Given the description of an element on the screen output the (x, y) to click on. 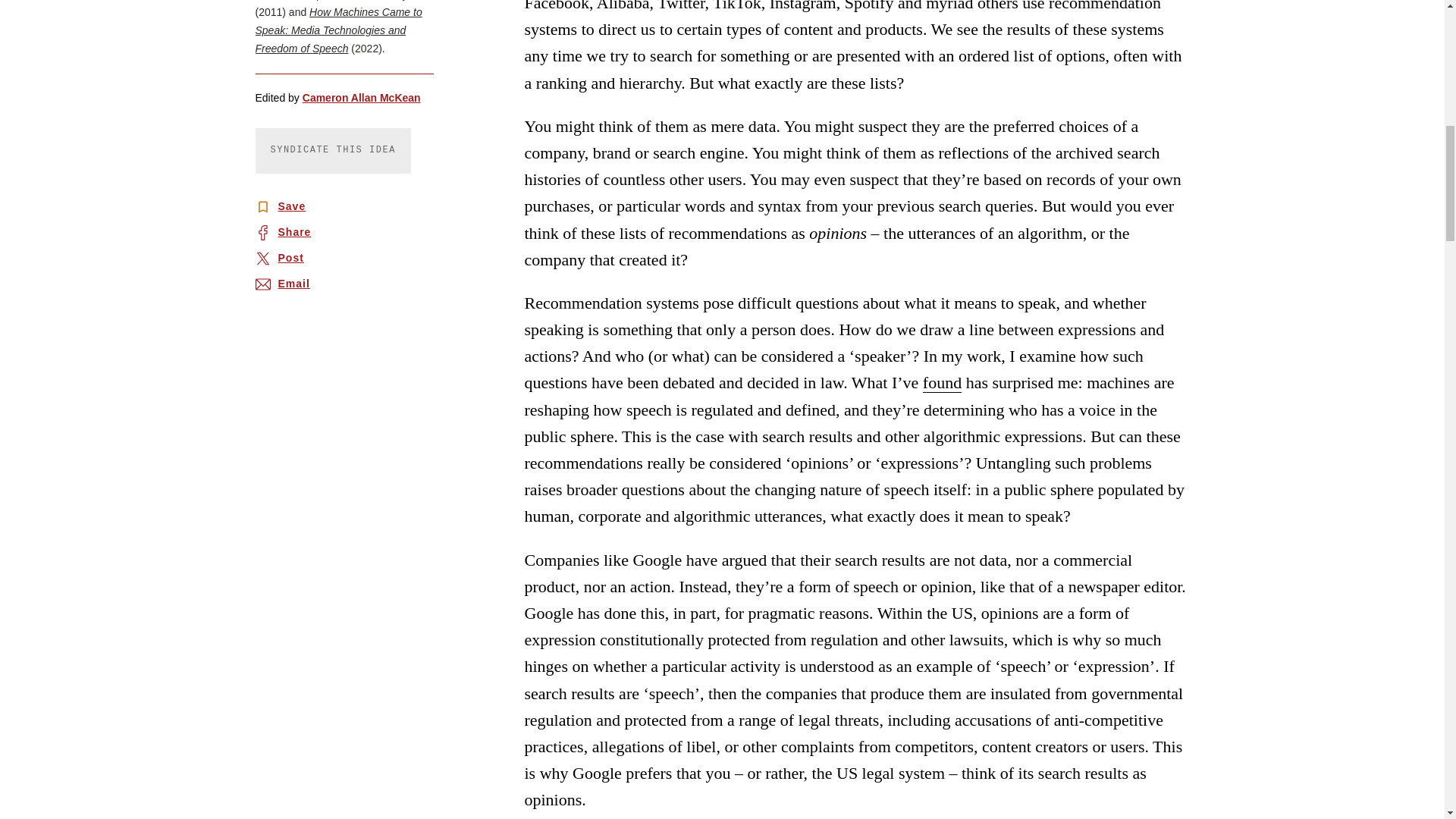
found (941, 383)
SYNDICATE THIS IDEA (332, 149)
Cameron Allan McKean (361, 98)
